Given the description of an element on the screen output the (x, y) to click on. 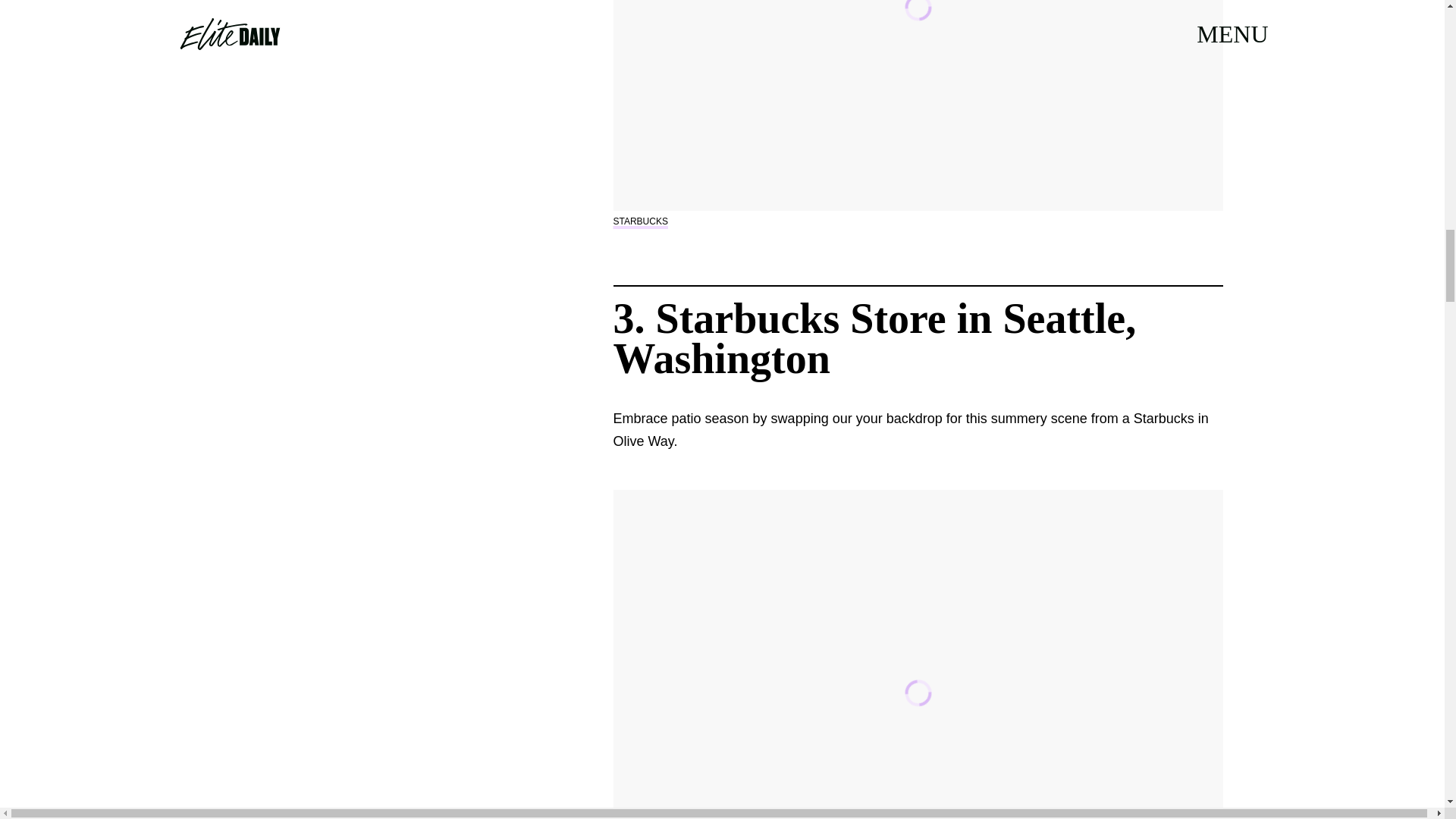
STARBUCKS (639, 221)
